Given the description of an element on the screen output the (x, y) to click on. 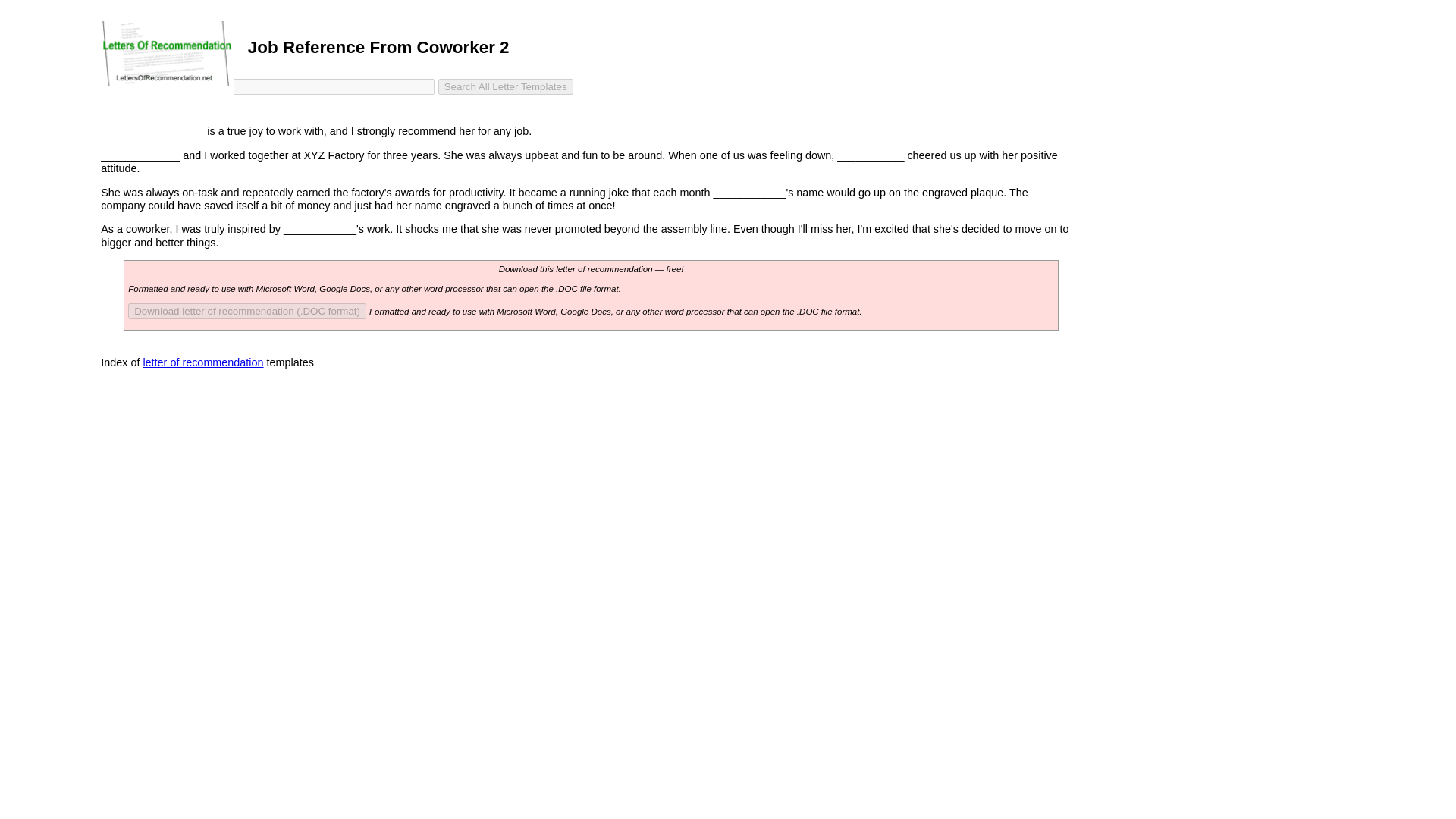
letter of recommendation (202, 362)
Search All Letter Templates (505, 86)
Search All Letter Templates (505, 86)
